Given the description of an element on the screen output the (x, y) to click on. 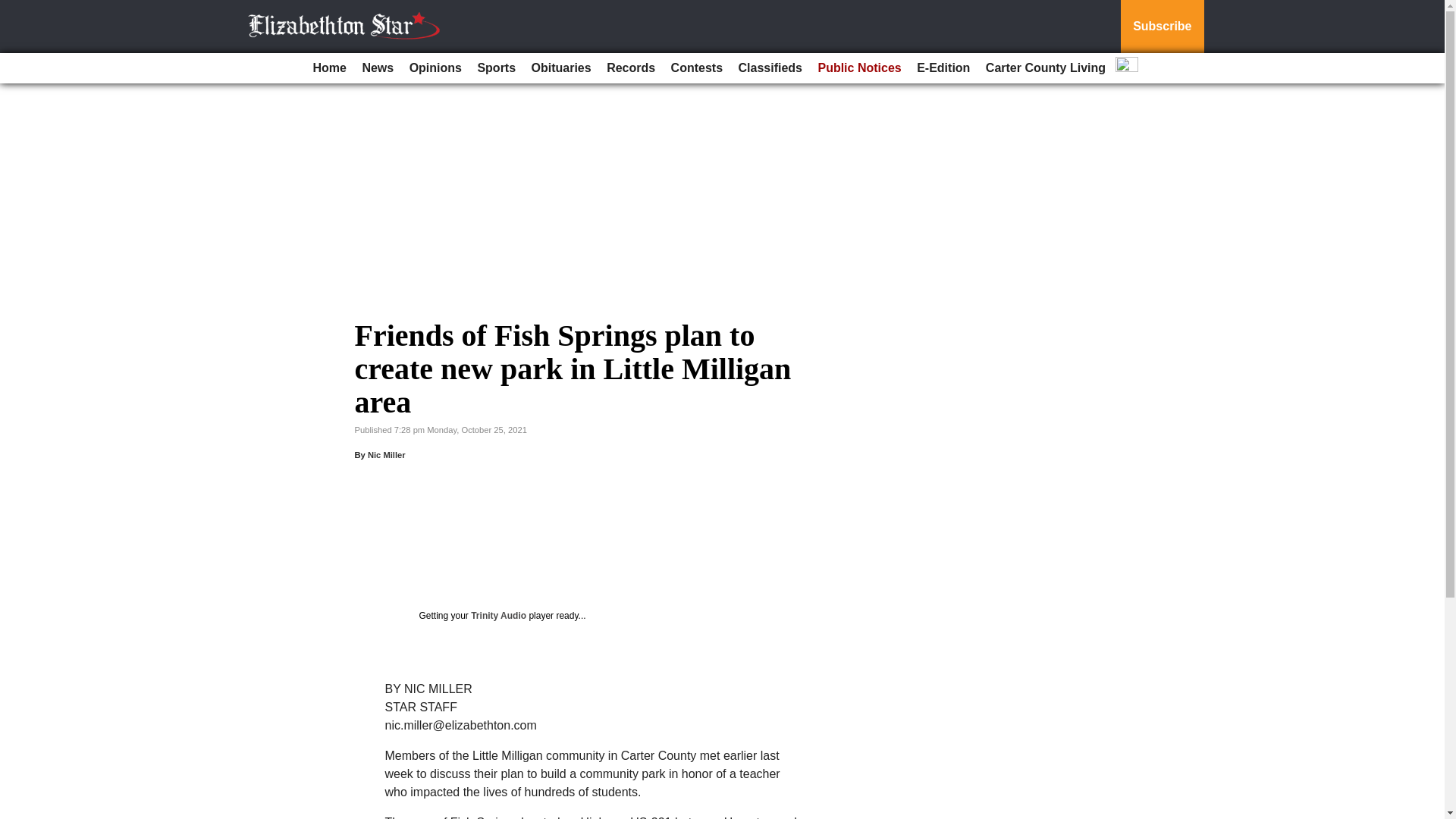
Trinity Audio (497, 615)
Obituaries (560, 68)
Home (328, 68)
Go (13, 9)
Subscribe (1162, 26)
Sports (495, 68)
Classifieds (770, 68)
Carter County Living (1045, 68)
E-Edition (943, 68)
Public Notices (858, 68)
